Given the description of an element on the screen output the (x, y) to click on. 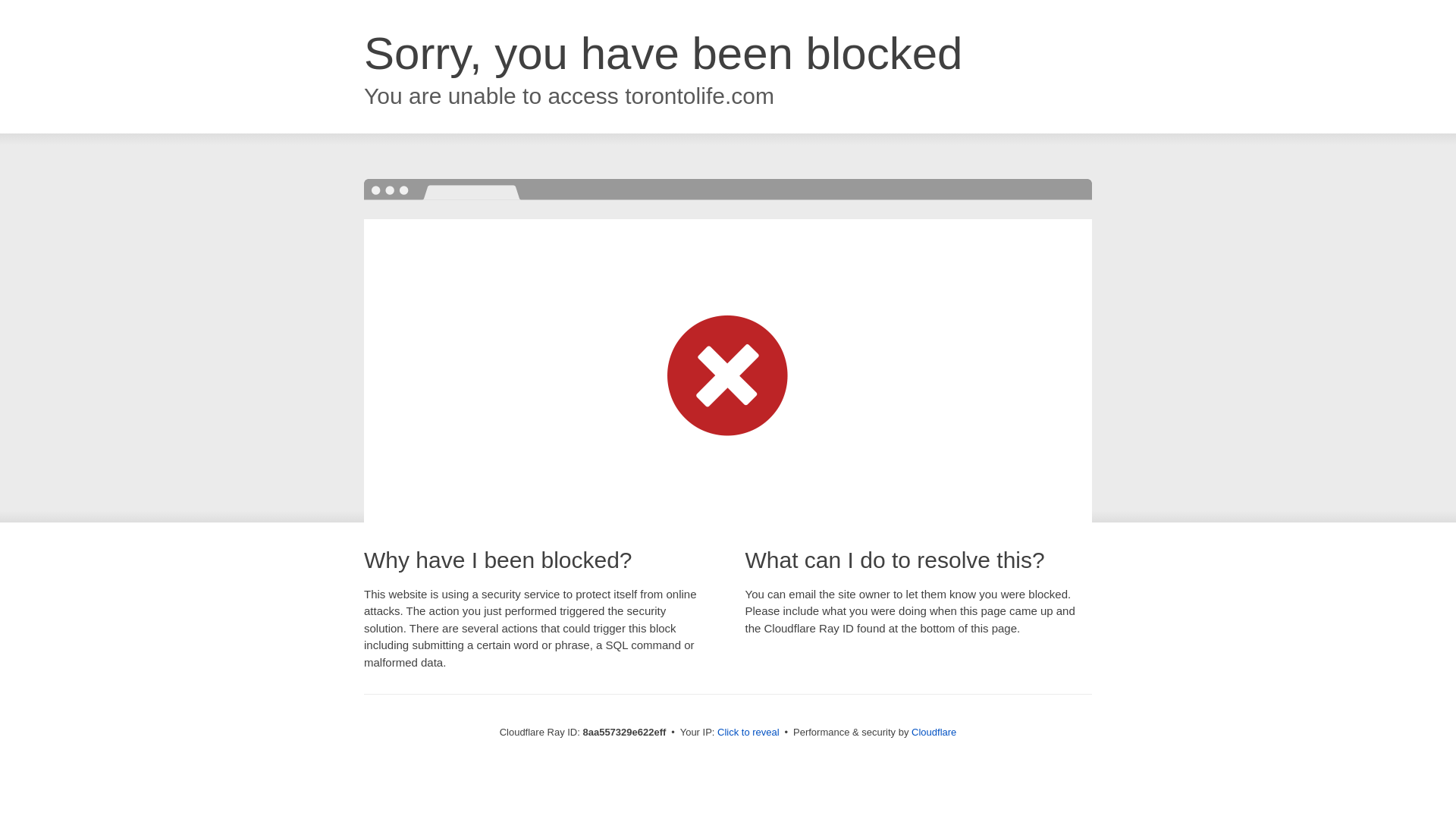
Click to reveal (747, 732)
Cloudflare (933, 731)
